Given the description of an element on the screen output the (x, y) to click on. 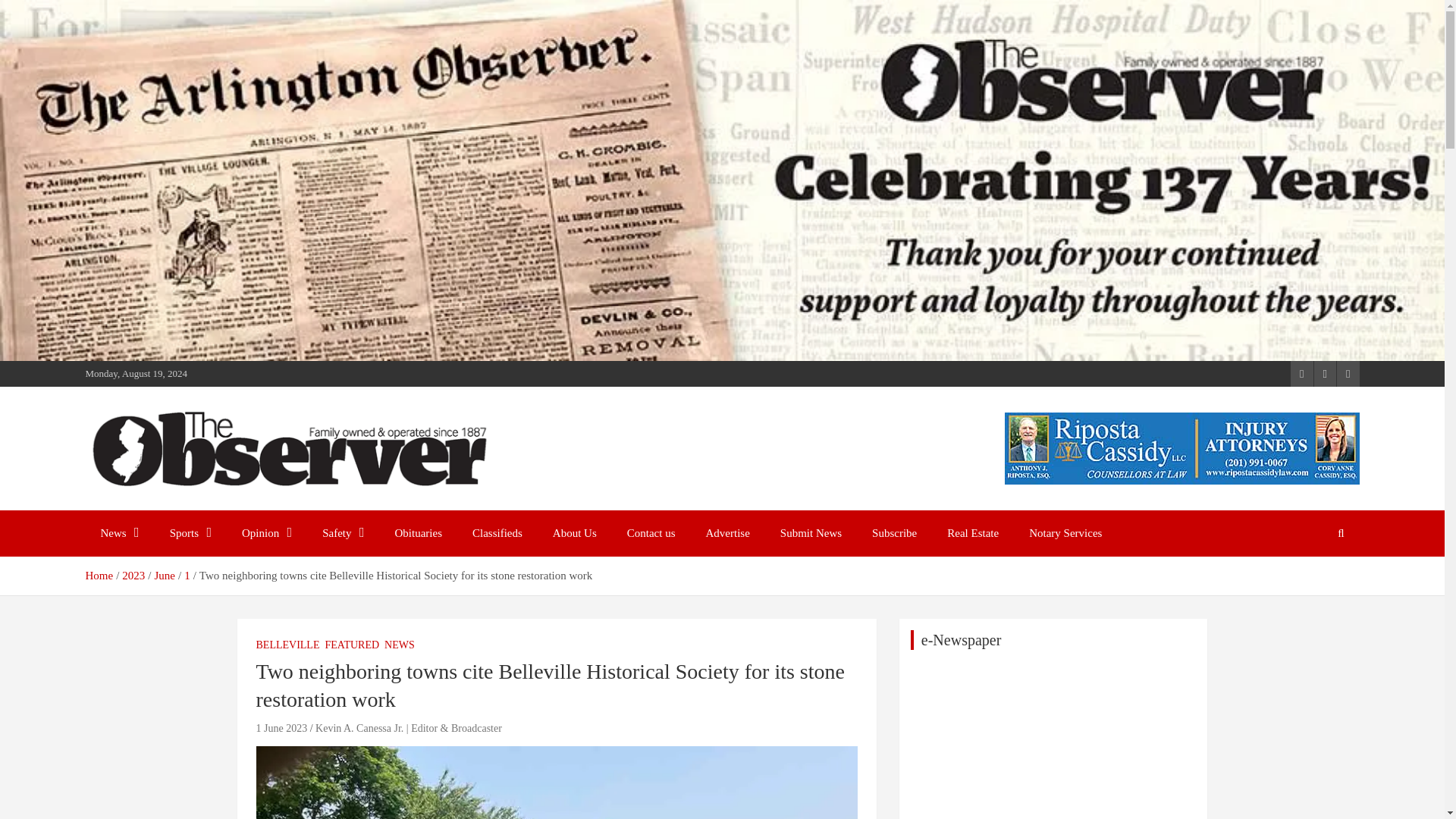
The Observer Online (212, 506)
News (119, 533)
Obituaries (418, 533)
Classifieds (497, 533)
Sports (190, 533)
Opinion (267, 533)
About Us (574, 533)
Safety (342, 533)
